Given the description of an element on the screen output the (x, y) to click on. 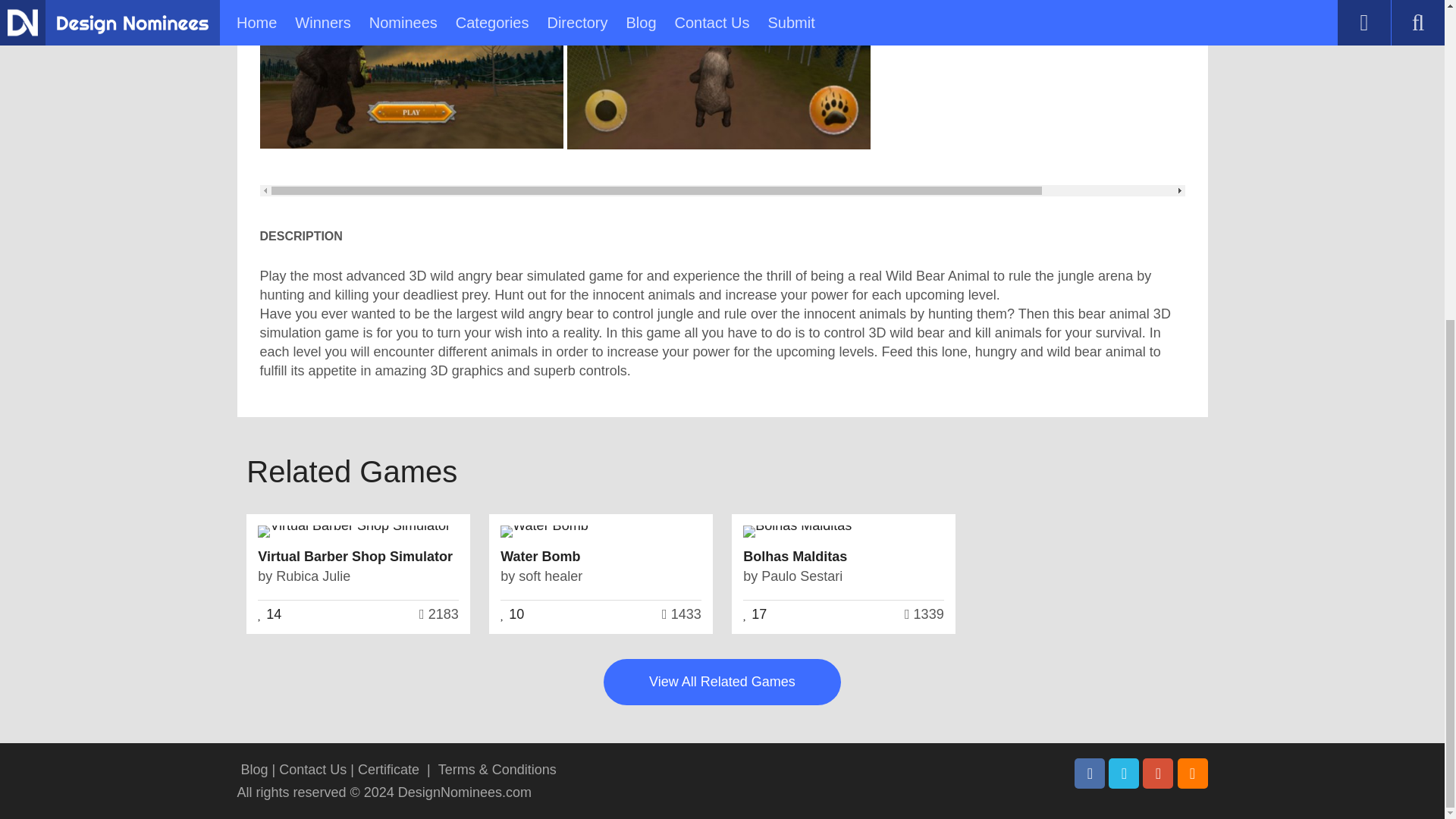
Pinterest (1157, 773)
Rss (1191, 773)
Facebook (1089, 773)
Twitter (1123, 773)
